Given the description of an element on the screen output the (x, y) to click on. 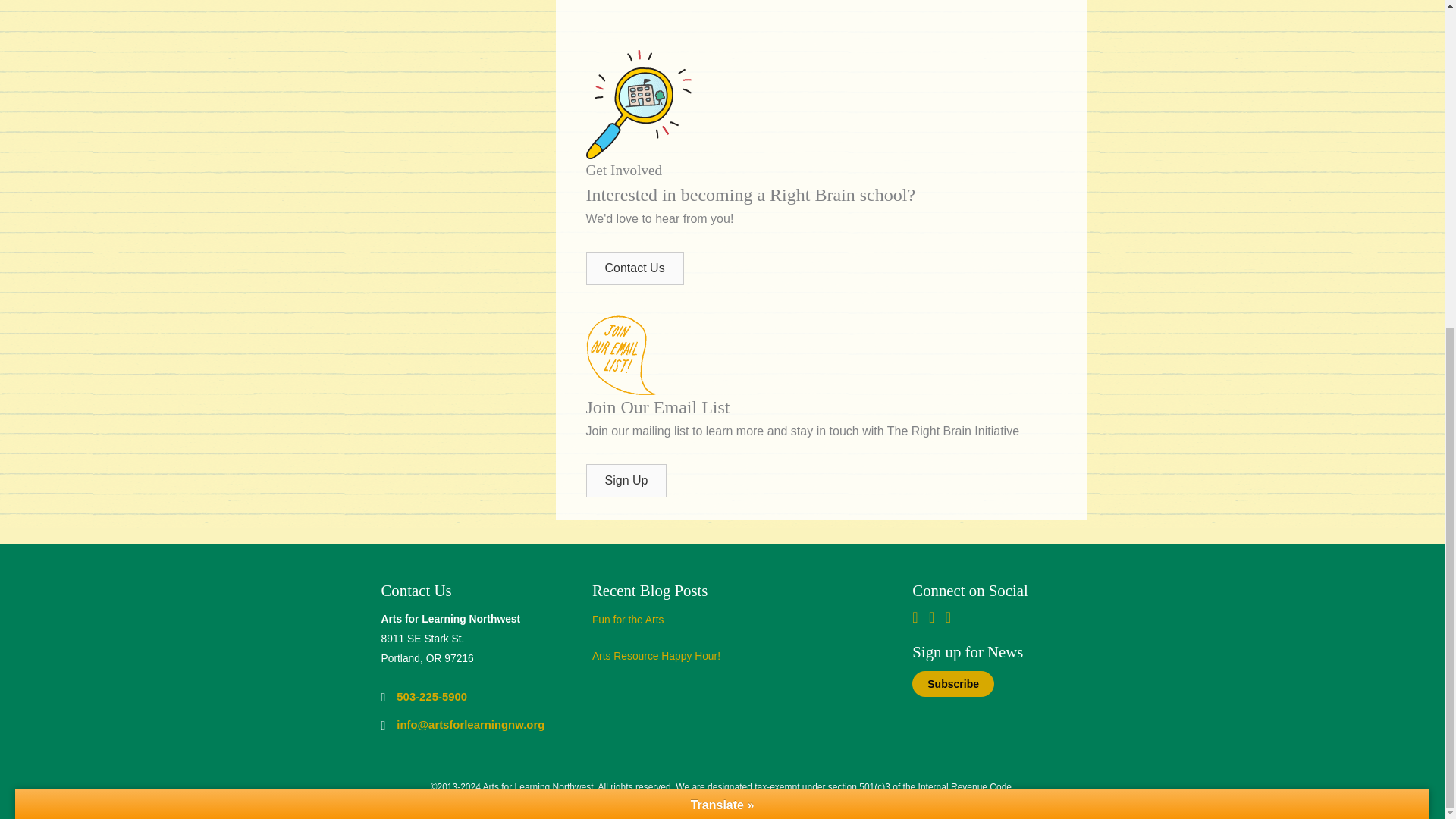
Vector-Smart-Object-6-e1464312222929 (637, 103)
View Box Content (729, 623)
The Right Brain Effect (823, 17)
Click Here (625, 480)
Click Here (633, 268)
Fun for the Arts (627, 619)
Arts Resource Happy Hour! (656, 655)
View Box Content (729, 660)
